Given the description of an element on the screen output the (x, y) to click on. 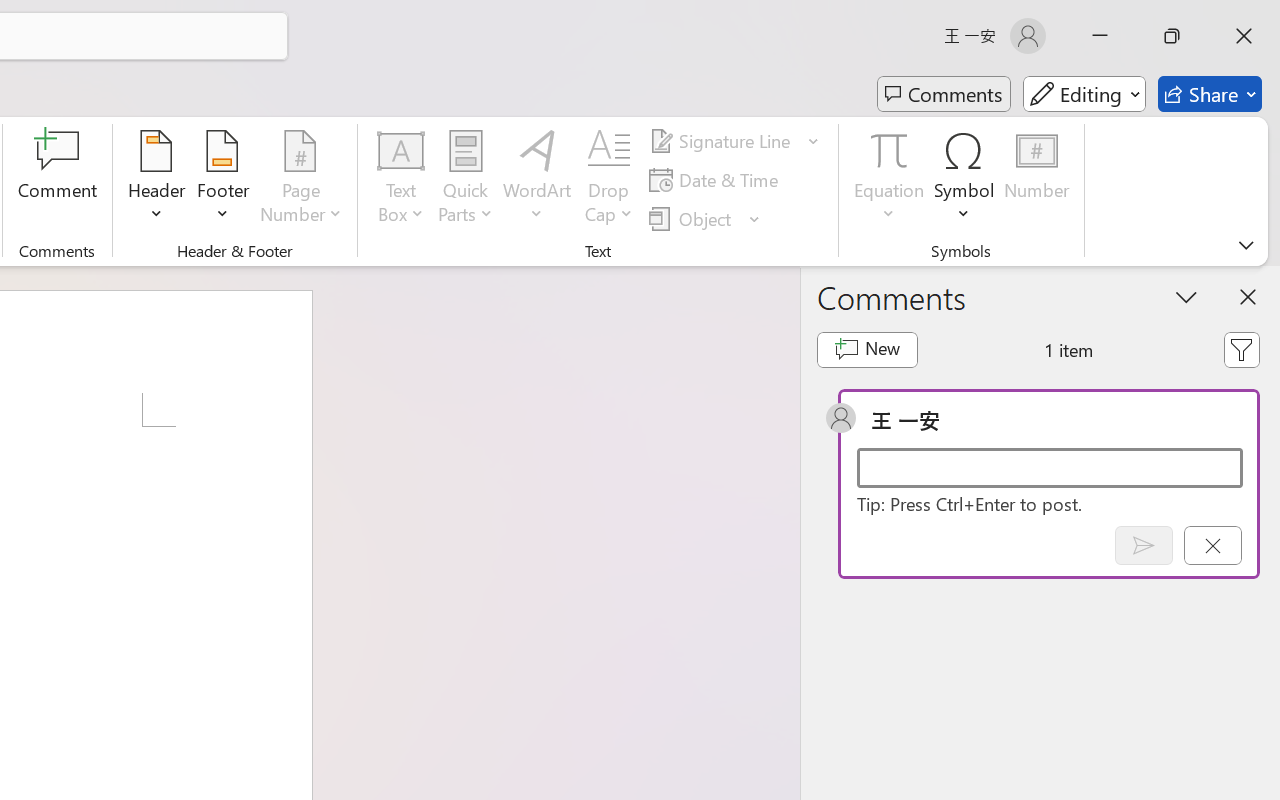
Object... (692, 218)
Symbol (964, 179)
Header (157, 179)
Filter (1241, 350)
Object... (705, 218)
Quick Parts (465, 179)
Page Number (301, 179)
Date & Time... (716, 179)
